Given the description of an element on the screen output the (x, y) to click on. 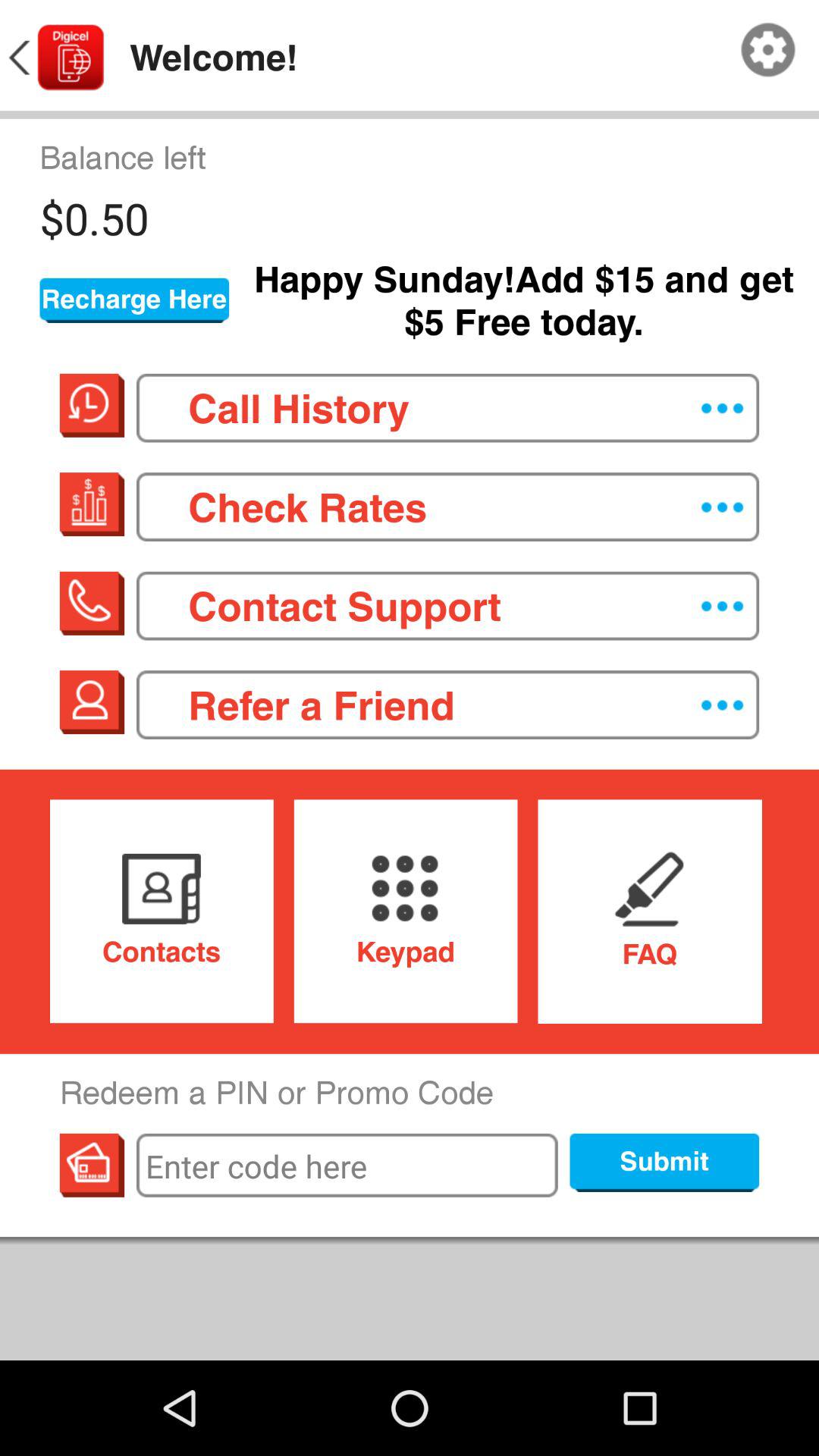
launch the item next to the welcome! icon (54, 57)
